Given the description of an element on the screen output the (x, y) to click on. 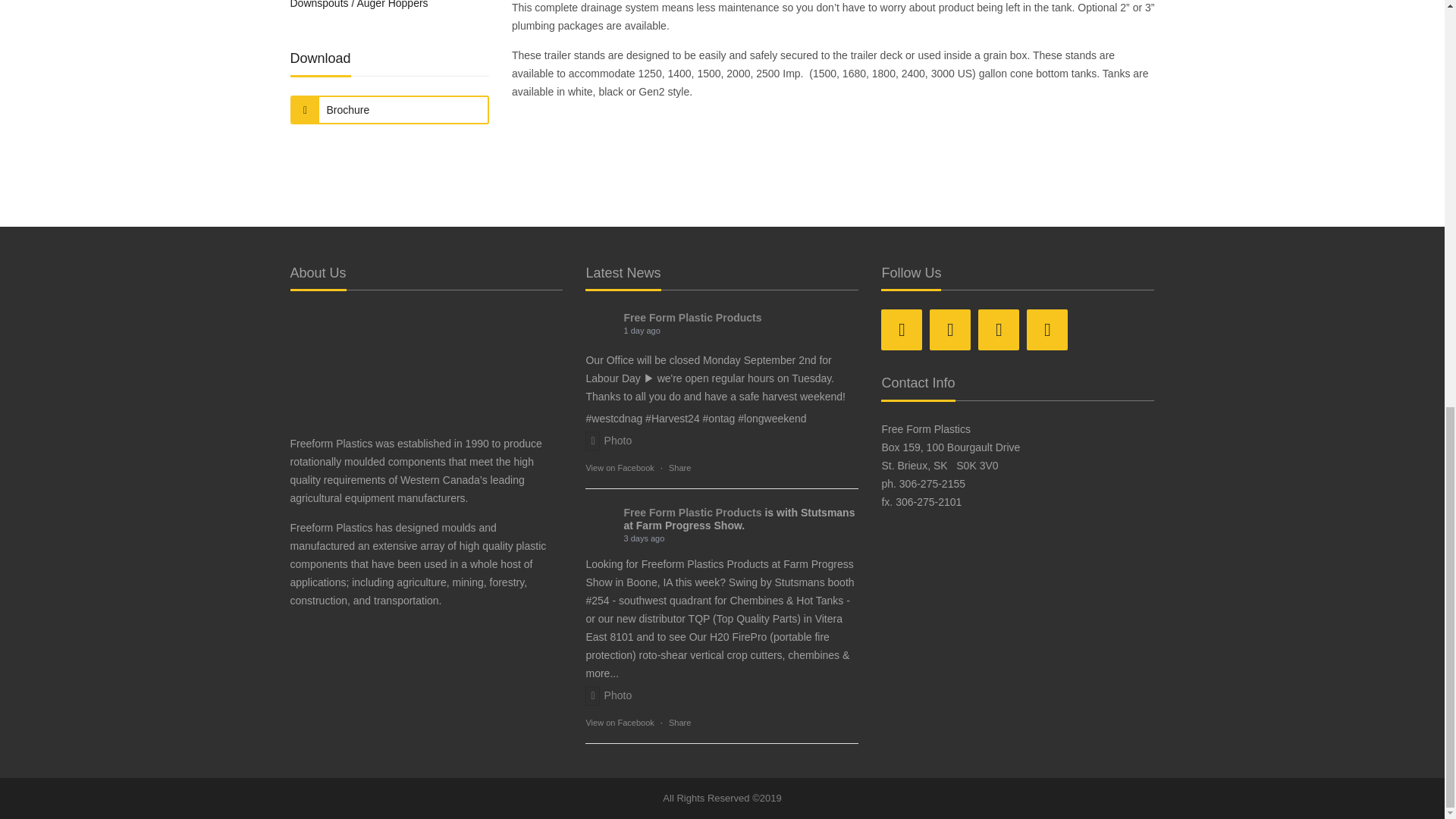
View on Facebook (619, 722)
View on Facebook (619, 467)
Share (679, 467)
Share (679, 722)
